Given the description of an element on the screen output the (x, y) to click on. 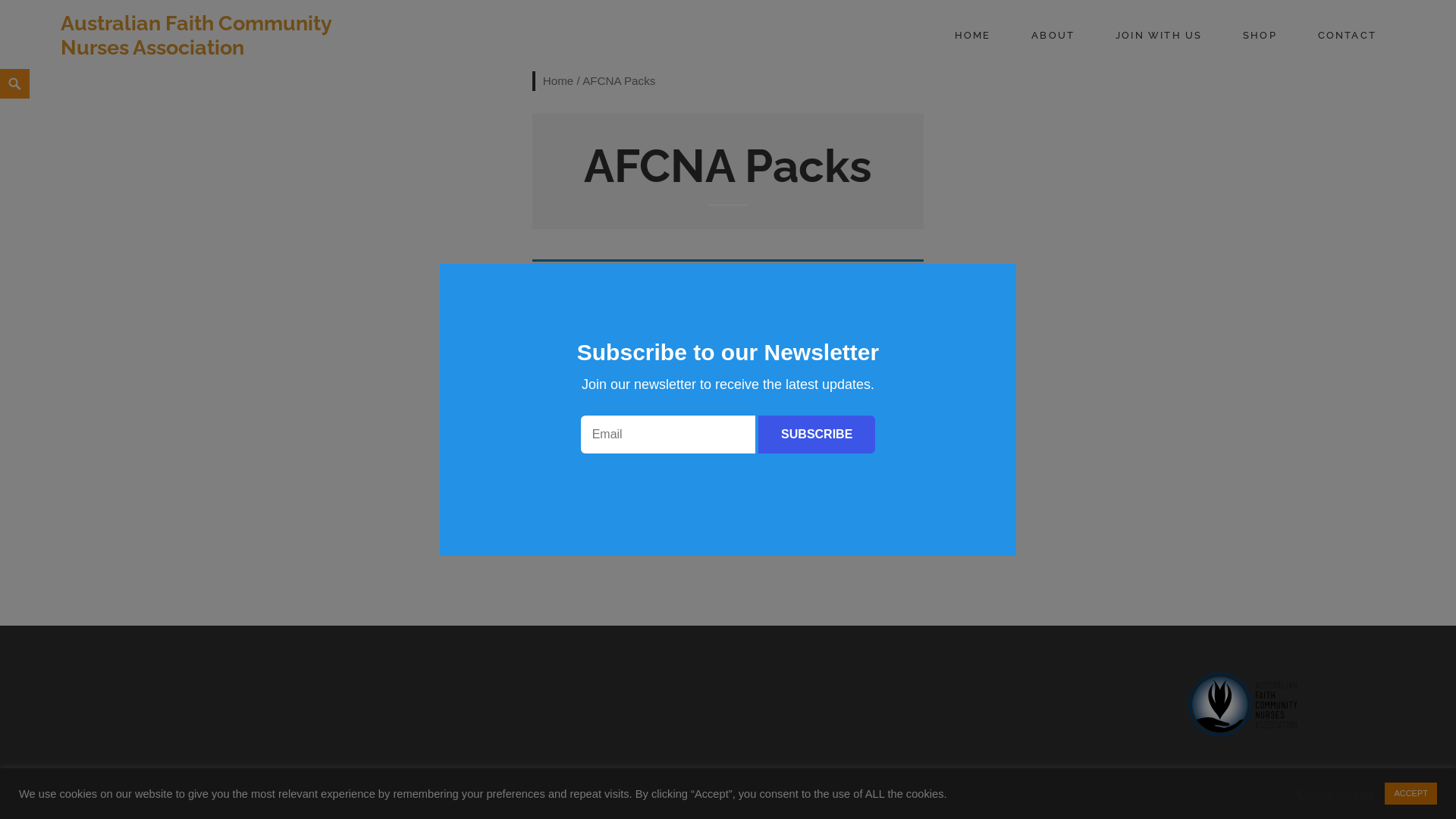
Skip to content Element type: text (0, 68)
HOME Element type: text (972, 35)
Home Element type: text (558, 80)
Cookie settings Element type: text (1335, 793)
SHOP Element type: text (1259, 35)
ABOUT Element type: text (1052, 35)
CONTACT Element type: text (1346, 35)
ACCEPT Element type: text (1410, 793)
Australian Faith Community Nurses Association Element type: text (195, 35)
Search Element type: text (3, 69)
JOIN WITH US Element type: text (1159, 35)
5 Quarter Designs. All rights reserved Element type: text (707, 803)
